Given the description of an element on the screen output the (x, y) to click on. 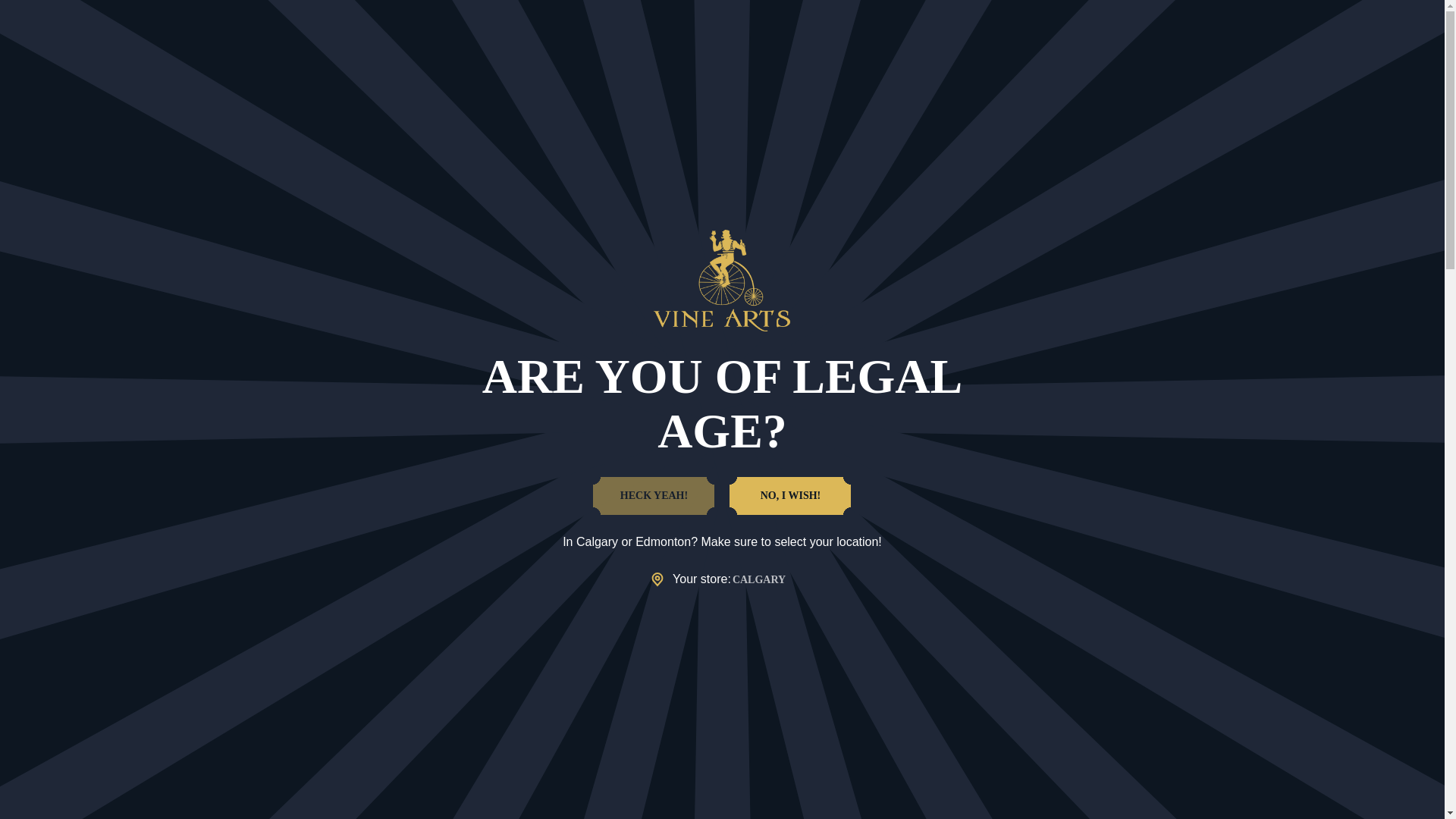
Wine Guides (596, 56)
News (818, 56)
SIGN IN (1300, 14)
Tastings (750, 56)
Contact (953, 56)
Sale (456, 56)
Home (791, 103)
Shop (515, 56)
About (883, 56)
WISHLIST (1390, 14)
Clubs (678, 56)
